Given the description of an element on the screen output the (x, y) to click on. 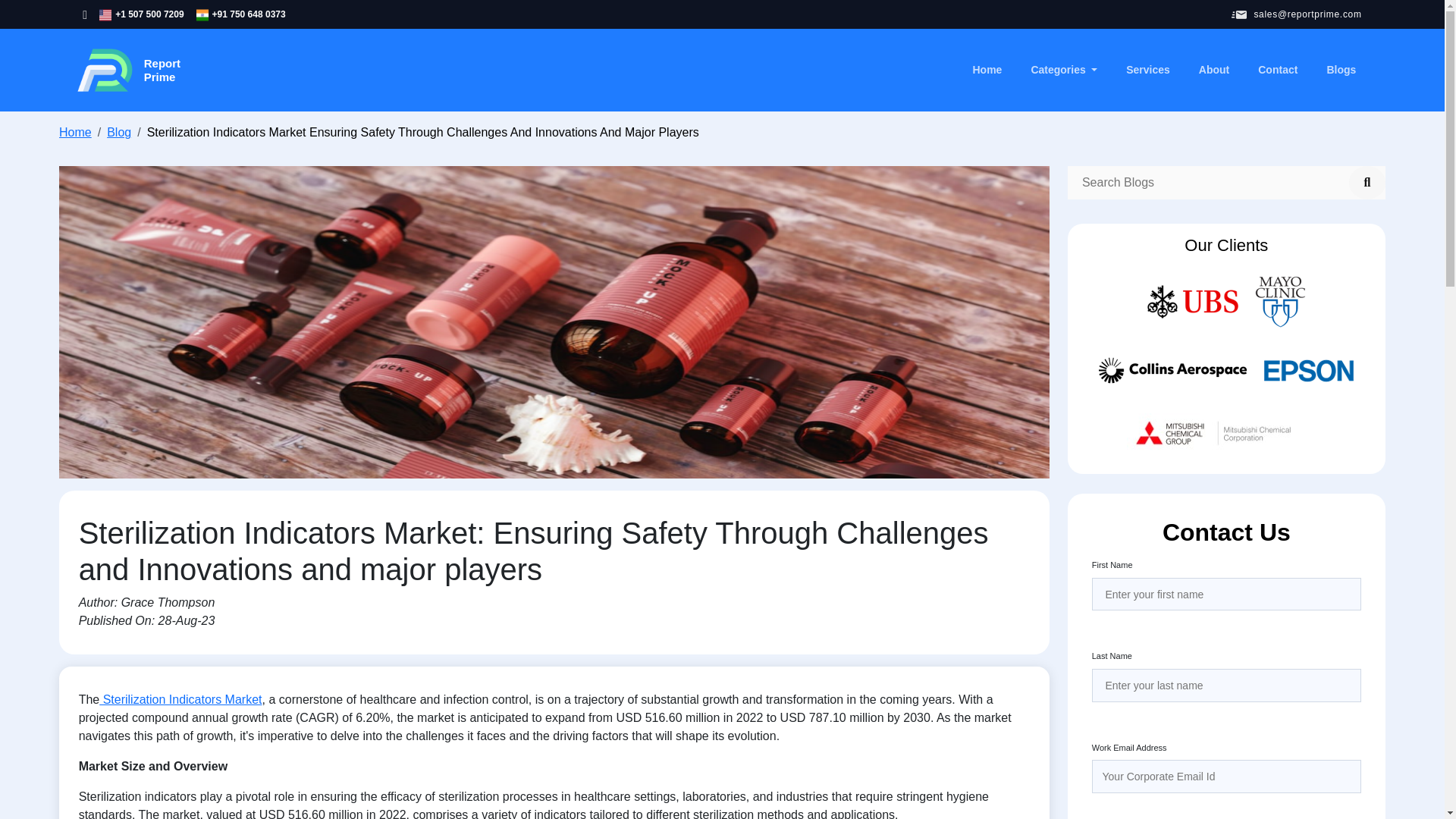
About (1213, 70)
Services (1147, 70)
Blogs (1340, 70)
Sterilization Indicators Market (180, 698)
Contact (1277, 70)
Blog (118, 132)
Blog (118, 132)
Categories (127, 69)
